Given the description of an element on the screen output the (x, y) to click on. 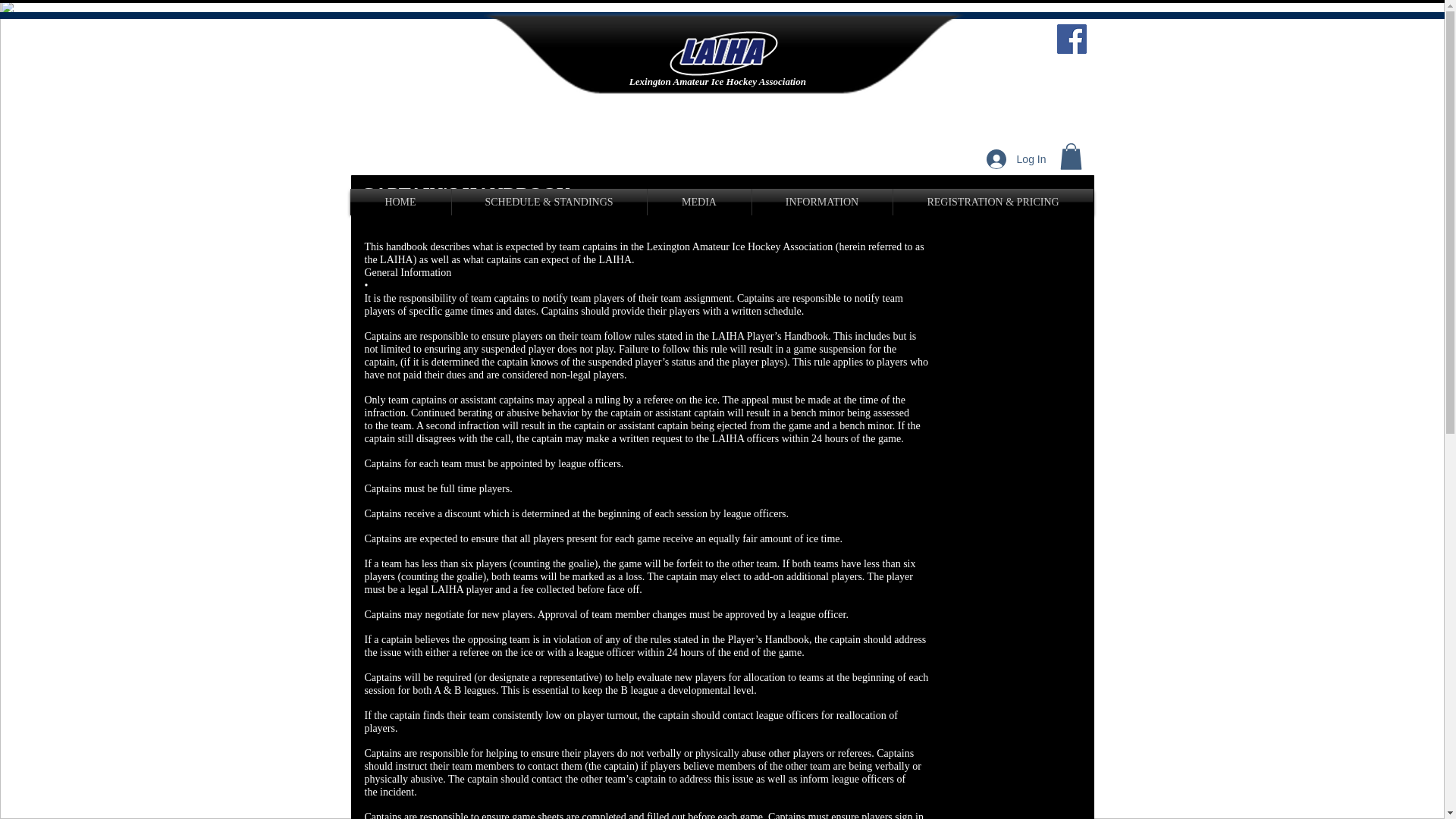
Log In (1016, 158)
MEDIA (699, 202)
HOME (400, 202)
